Given the description of an element on the screen output the (x, y) to click on. 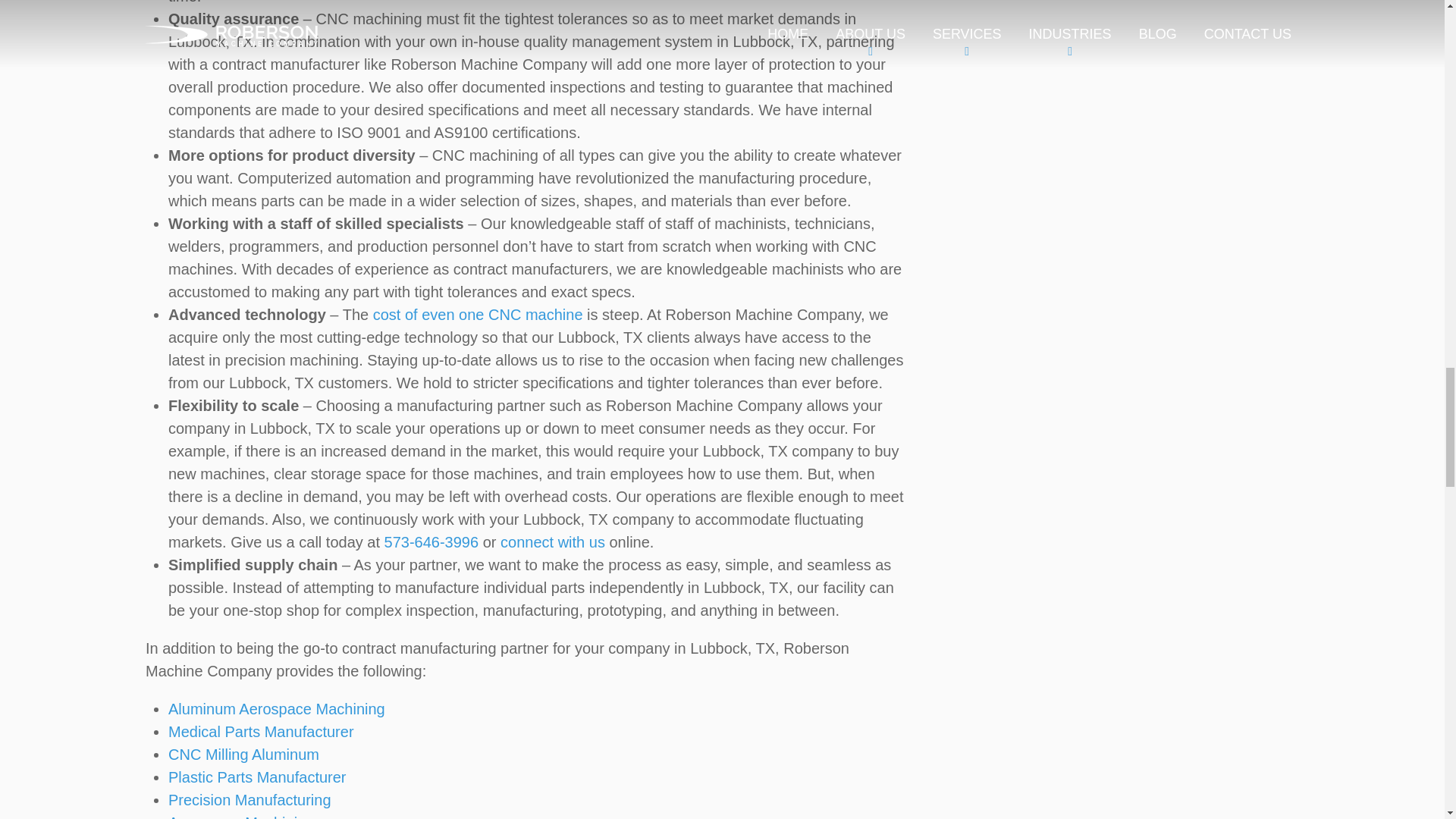
Contract Manufacturing Bland, MO - mellowpine.com (477, 314)
